Given the description of an element on the screen output the (x, y) to click on. 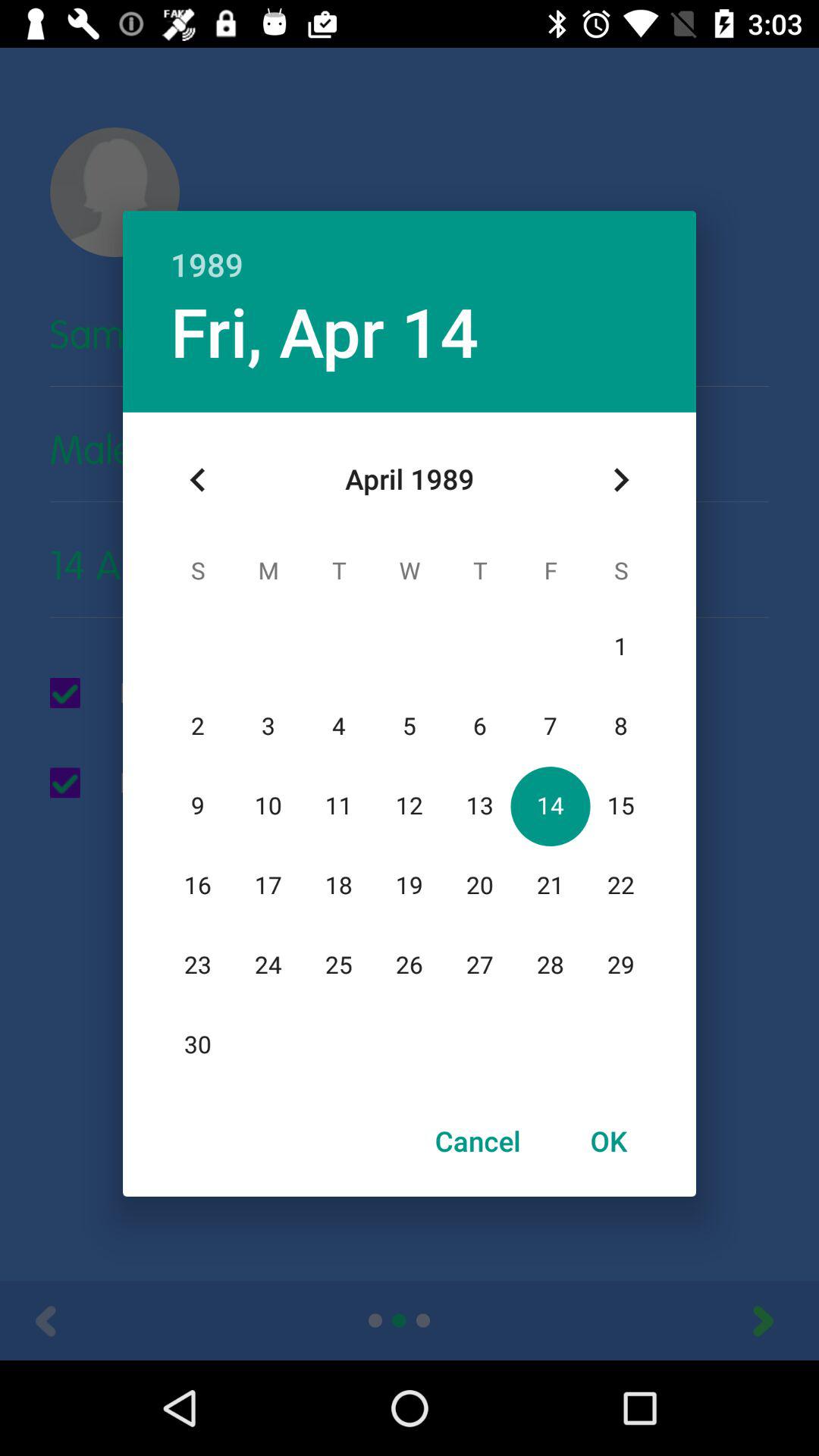
click item above fri, apr 14 icon (409, 248)
